Given the description of an element on the screen output the (x, y) to click on. 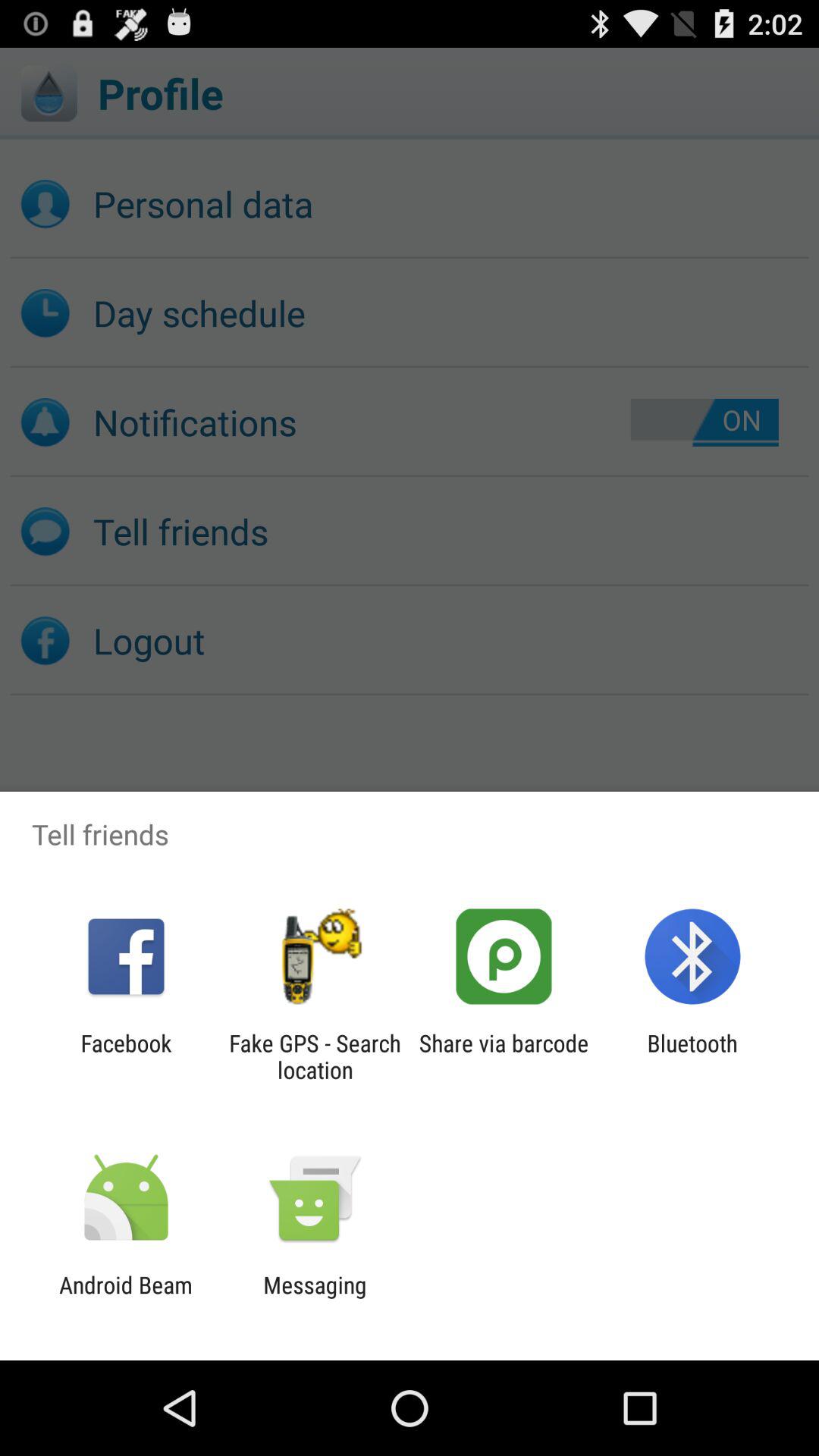
press item next to the bluetooth (503, 1056)
